Given the description of an element on the screen output the (x, y) to click on. 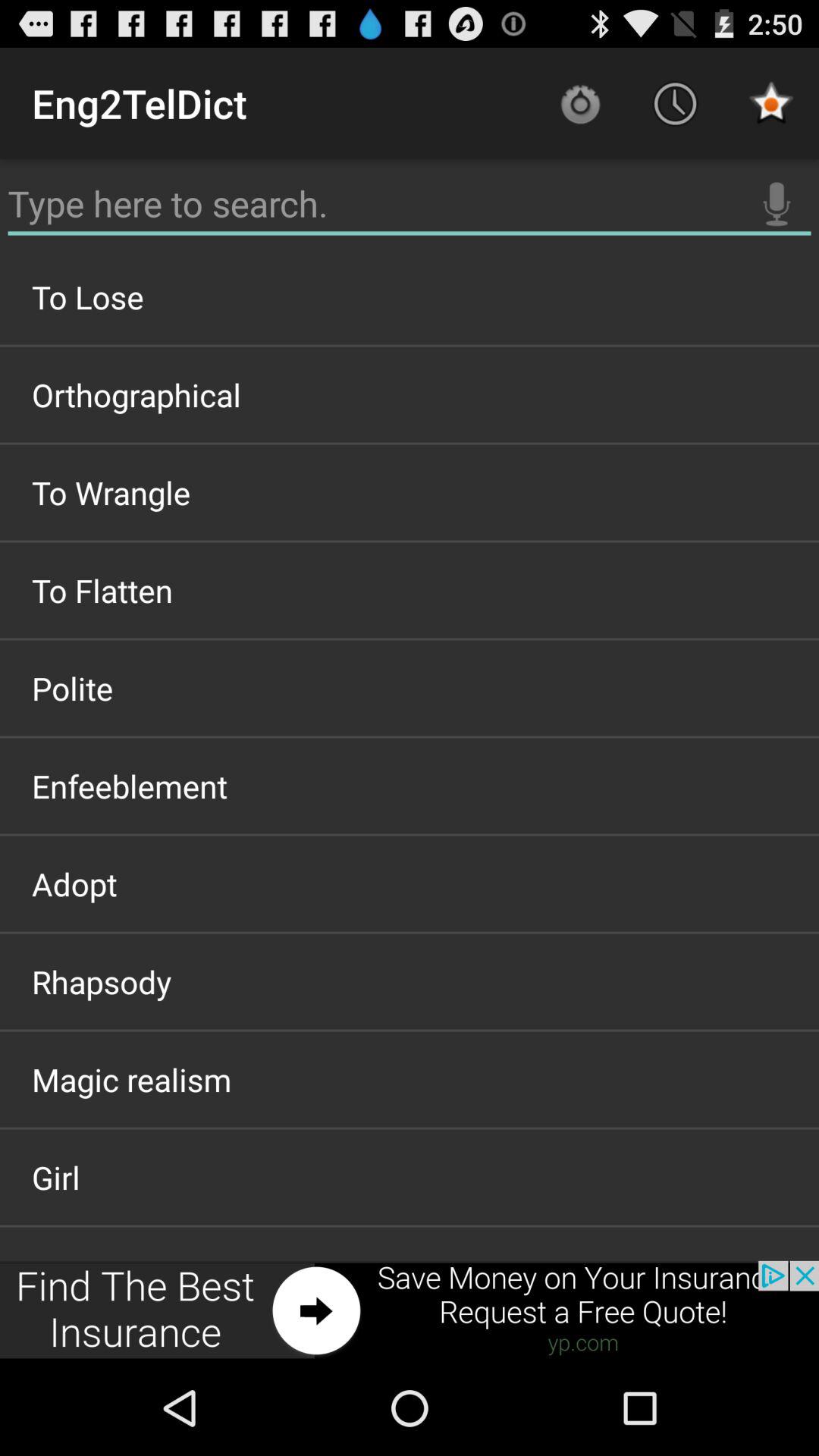
open to flatten icon (409, 590)
